Given the description of an element on the screen output the (x, y) to click on. 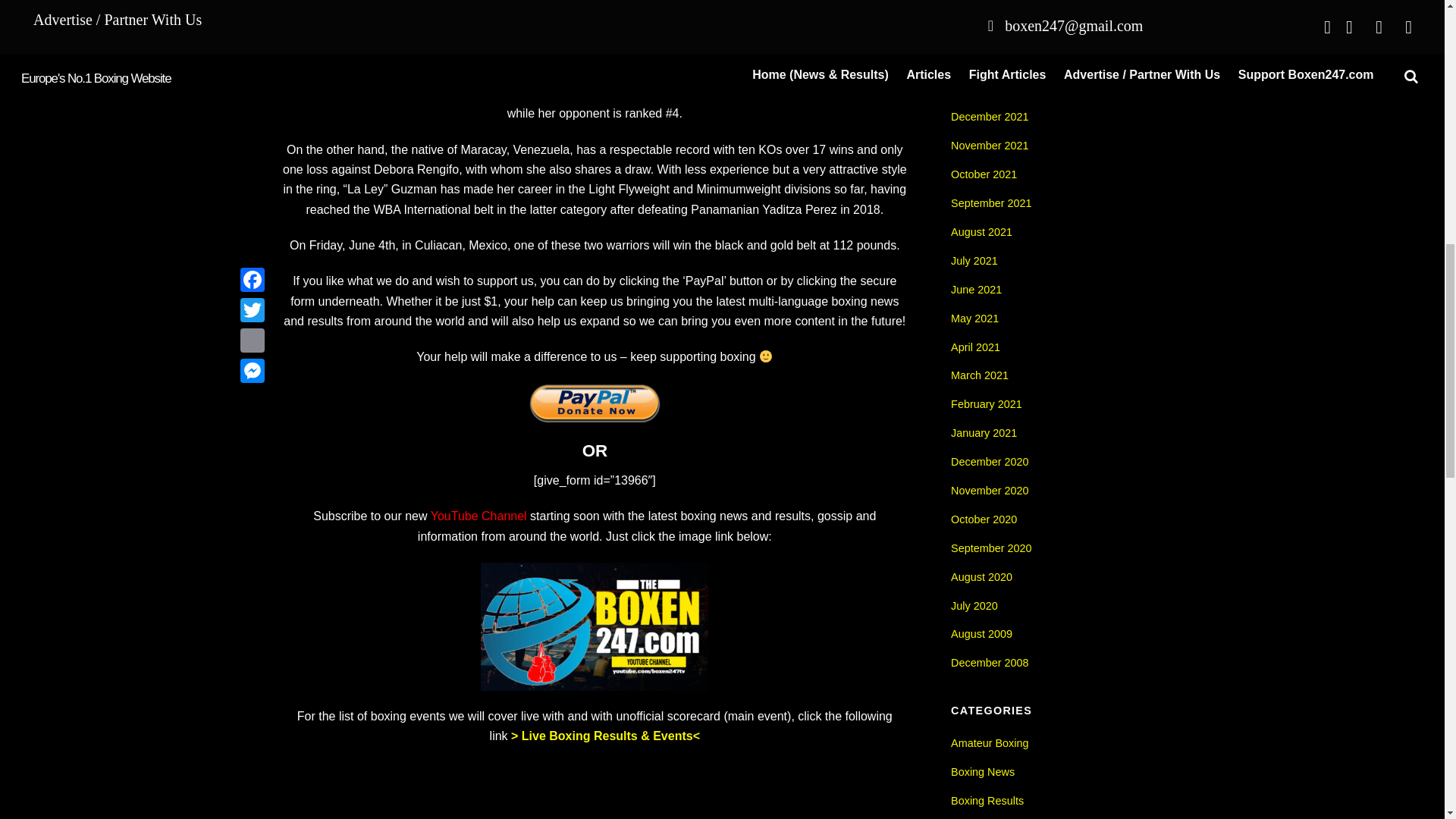
YouTube video player (593, 790)
